Given the description of an element on the screen output the (x, y) to click on. 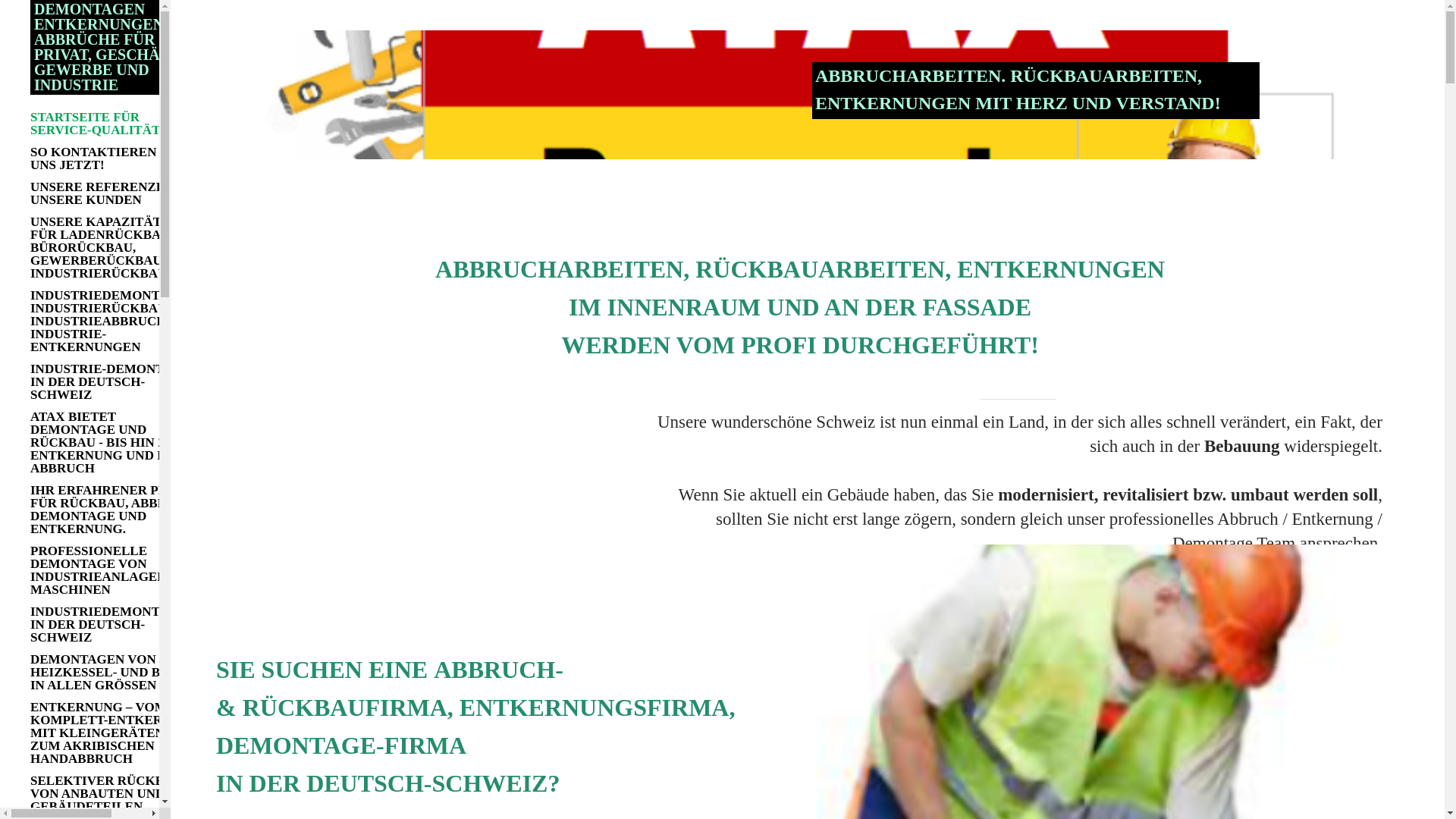
SO KONTAKTIEREN SIE UNS JETZT! Element type: text (116, 158)
UNSERE REFERENZEN, UNSERE KUNDEN Element type: text (116, 192)
INDUSTRIE-DEMONTAGEN IN DER DEUTSCH-SCHWEIZ Element type: text (116, 381)
INDUSTRIEDEMONTAGE IN DER DEUTSCH-SCHWEIZ Element type: text (116, 624)
PROFESSIONELLE DEMONTAGE VON INDUSTRIEANLAGEN UND MASCHINEN Element type: text (116, 569)
